Given the description of an element on the screen output the (x, y) to click on. 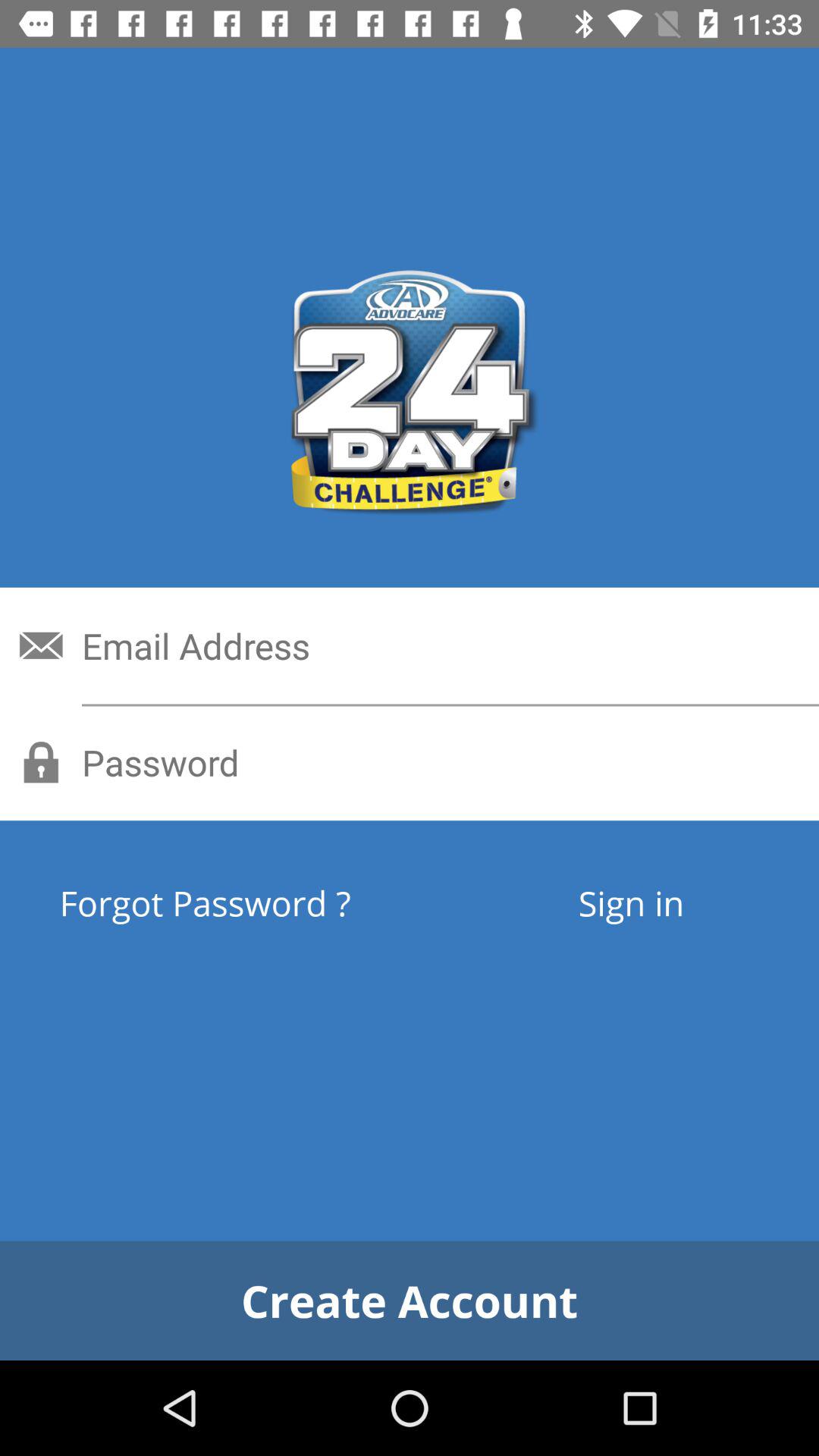
turn off item next to forgot password ? (631, 902)
